Given the description of an element on the screen output the (x, y) to click on. 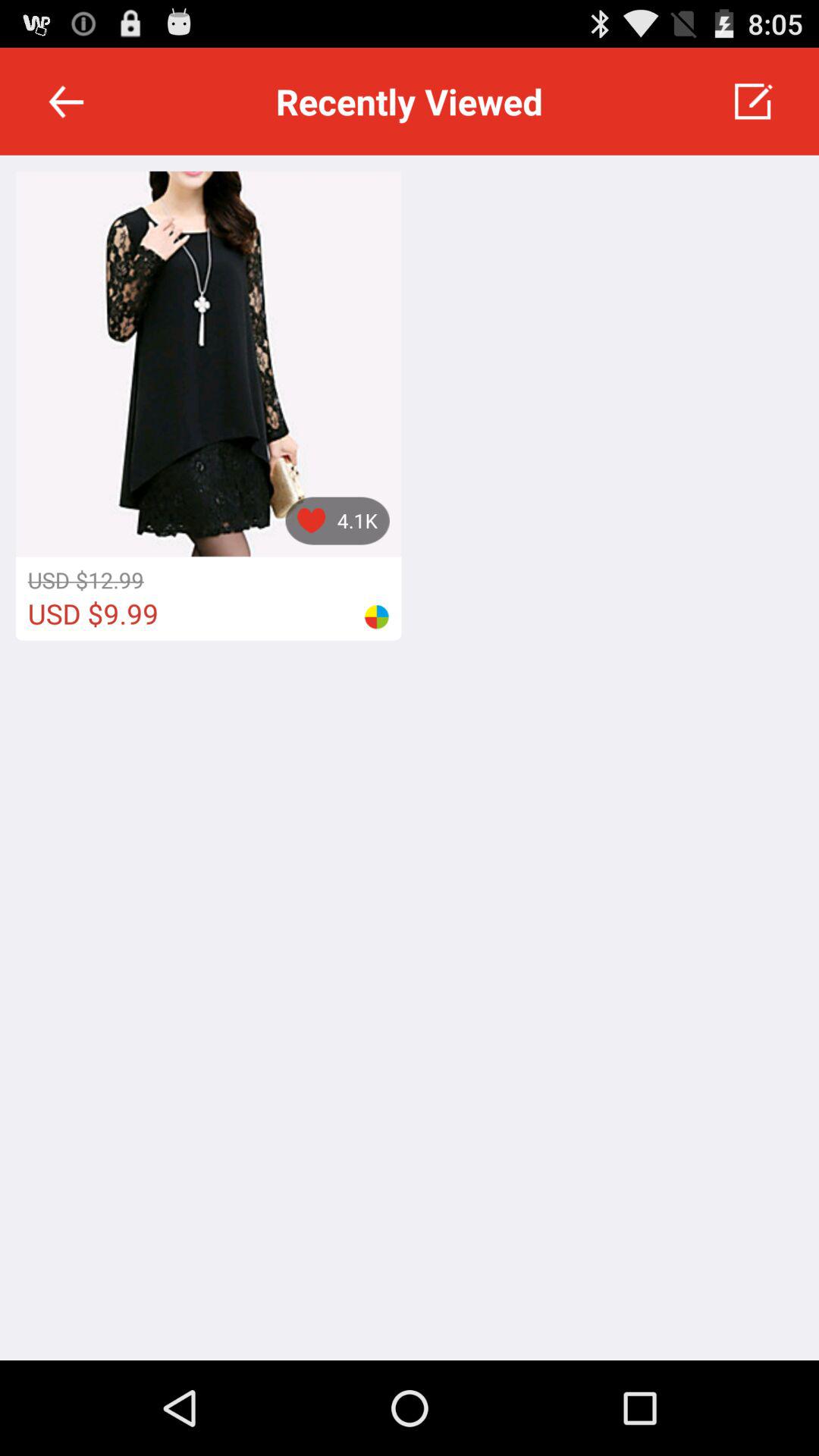
click the app to the right of recently viewed app (752, 101)
